Given the description of an element on the screen output the (x, y) to click on. 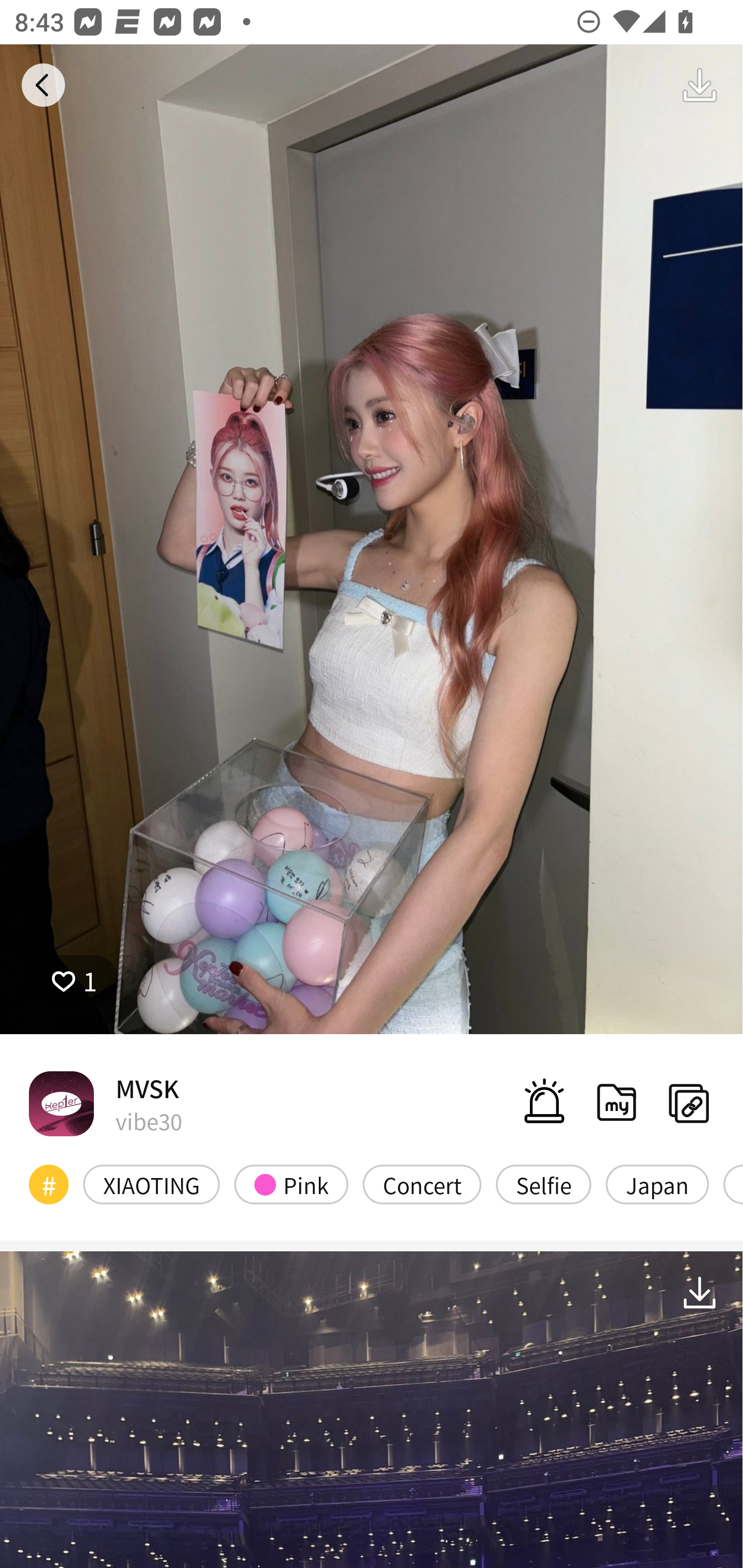
1 (73, 980)
MVSK vibe30 (105, 1102)
XIAOTING (151, 1184)
Pink (291, 1184)
Concert (421, 1184)
Selfie (543, 1184)
Japan (656, 1184)
